Given the description of an element on the screen output the (x, y) to click on. 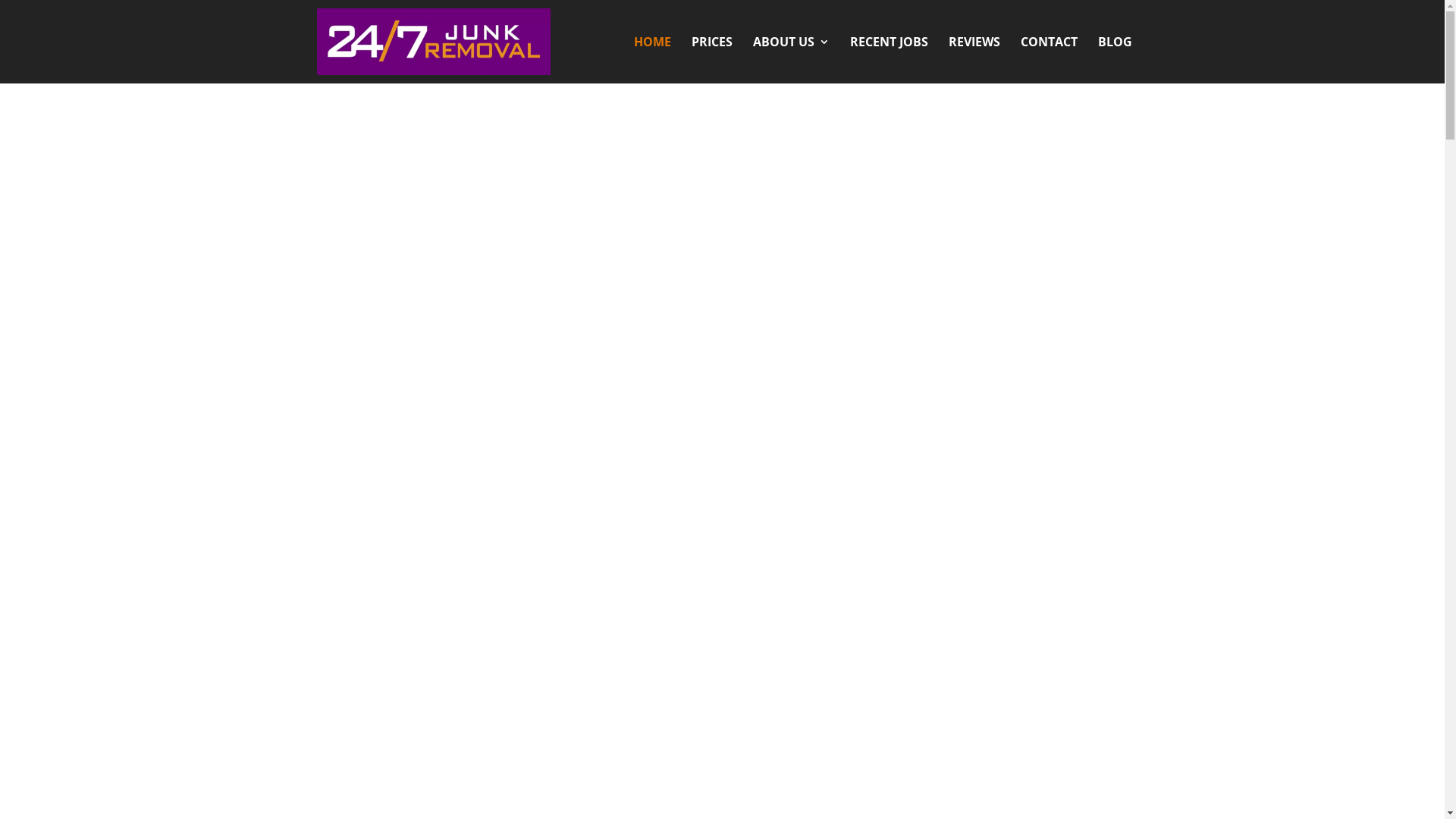
ABOUT US Element type: text (790, 59)
BLOG Element type: text (1115, 59)
HOME Element type: text (652, 59)
RECENT JOBS Element type: text (888, 59)
REVIEWS Element type: text (973, 59)
CONTACT Element type: text (1048, 59)
PRICES Element type: text (711, 59)
